Given the description of an element on the screen output the (x, y) to click on. 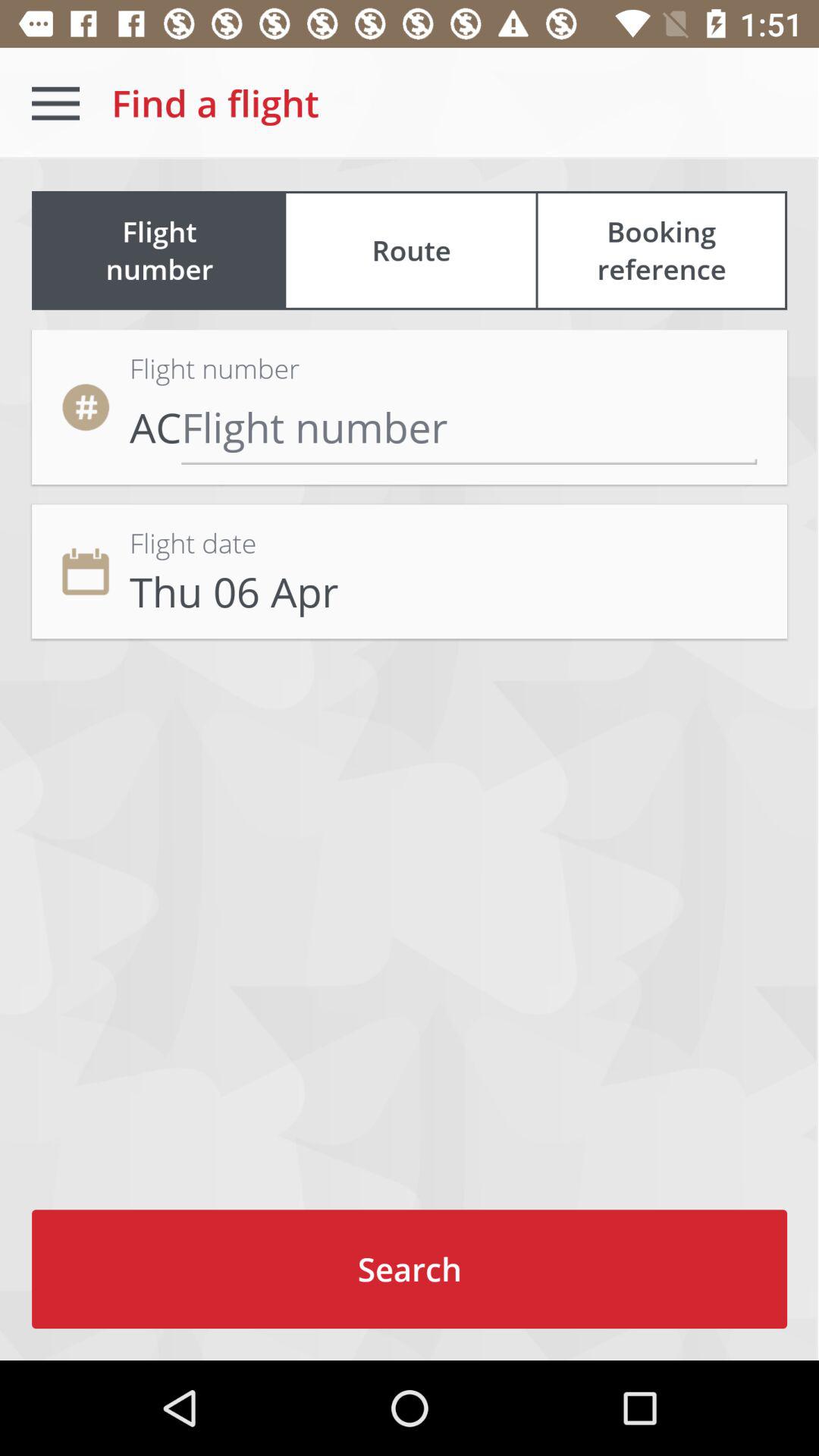
launch the item above flight number (411, 250)
